Given the description of an element on the screen output the (x, y) to click on. 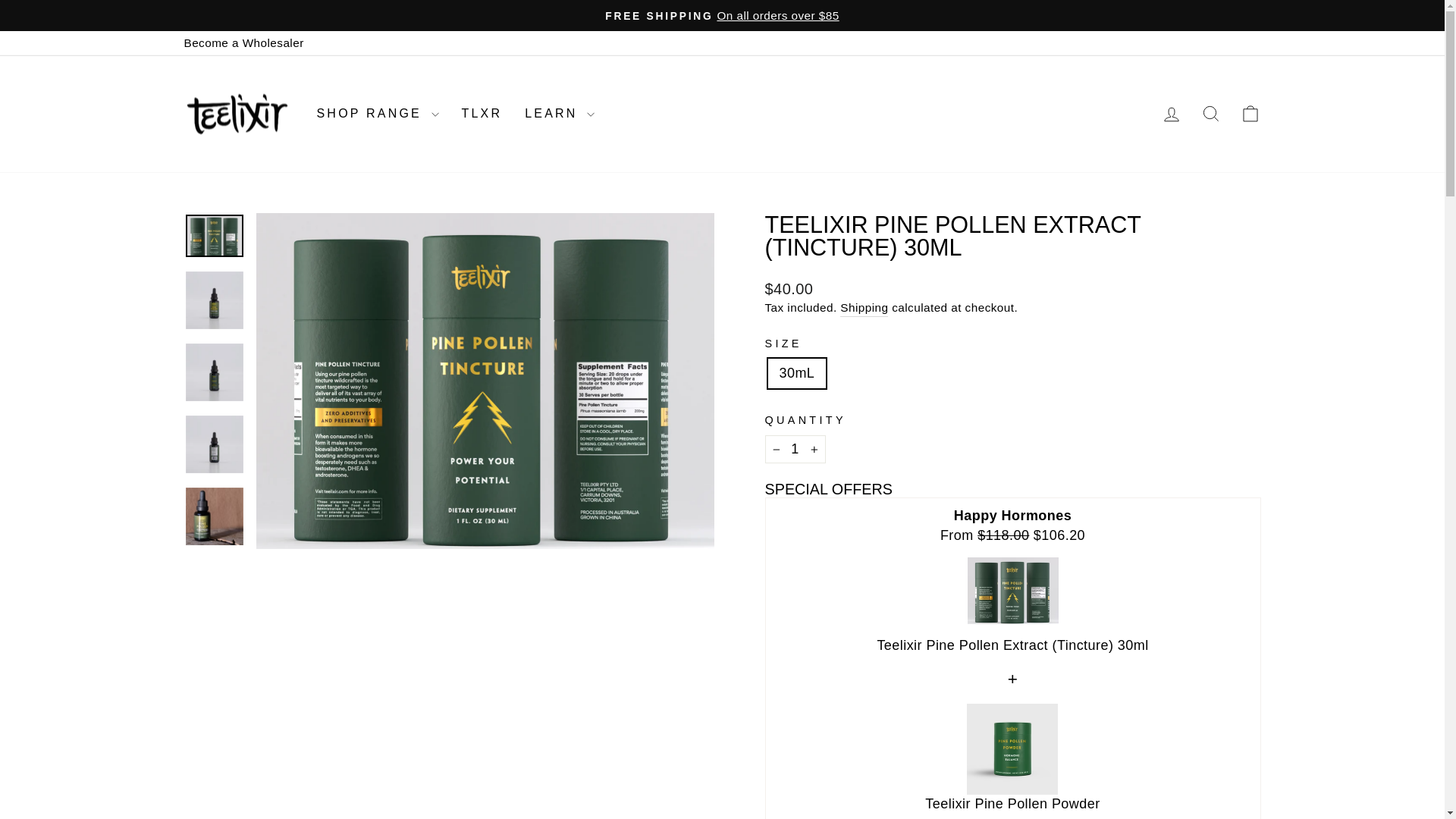
ICON-BAG-MINIMAL (1249, 113)
ACCOUNT (1170, 114)
1 (794, 448)
ICON-SEARCH (1210, 113)
